Given the description of an element on the screen output the (x, y) to click on. 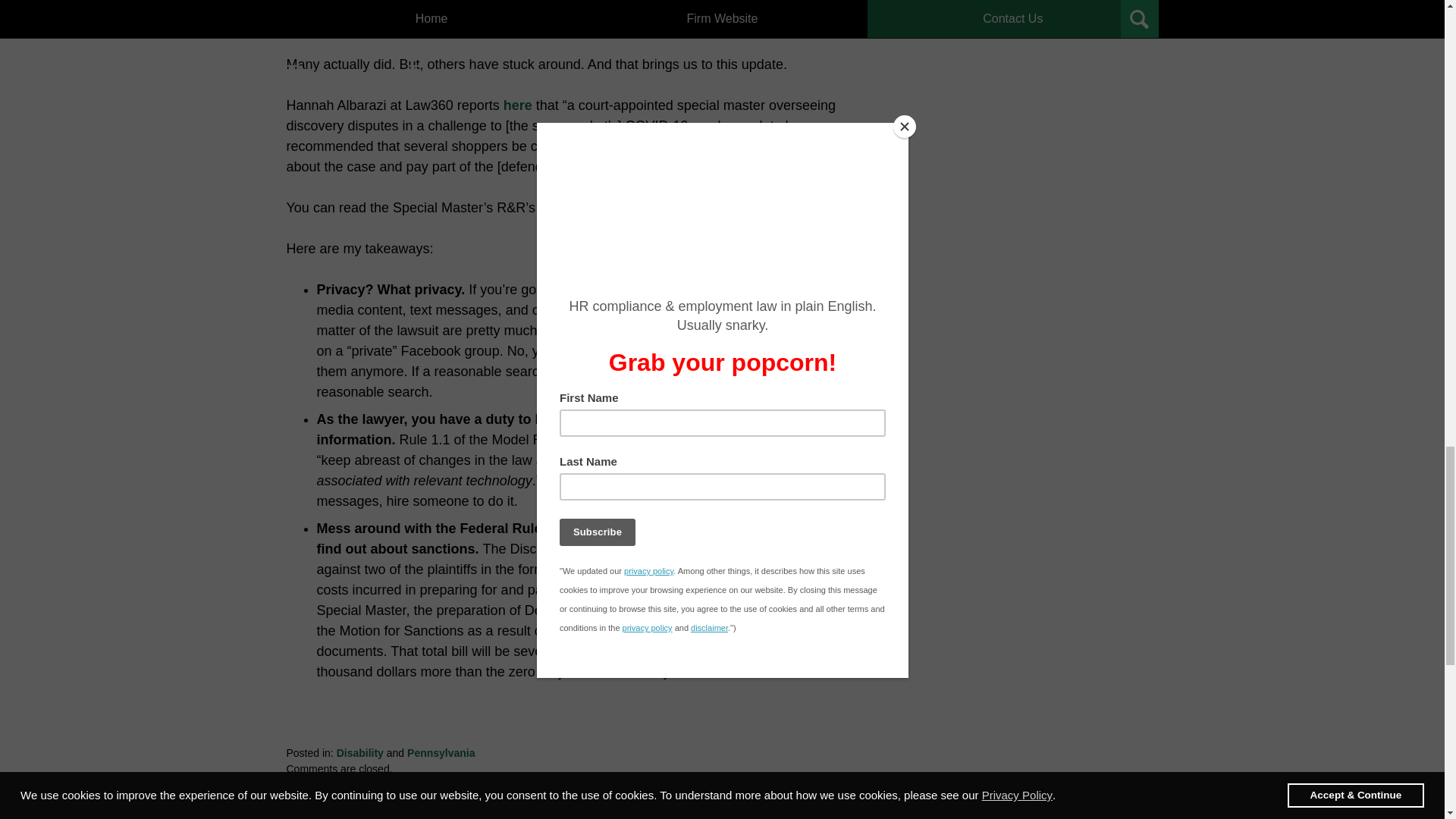
Disability (360, 752)
here (517, 105)
Pennsylvania (441, 752)
here (612, 207)
View all posts in Disability (360, 752)
here (552, 207)
View all posts in Pennsylvania (441, 752)
